Given the description of an element on the screen output the (x, y) to click on. 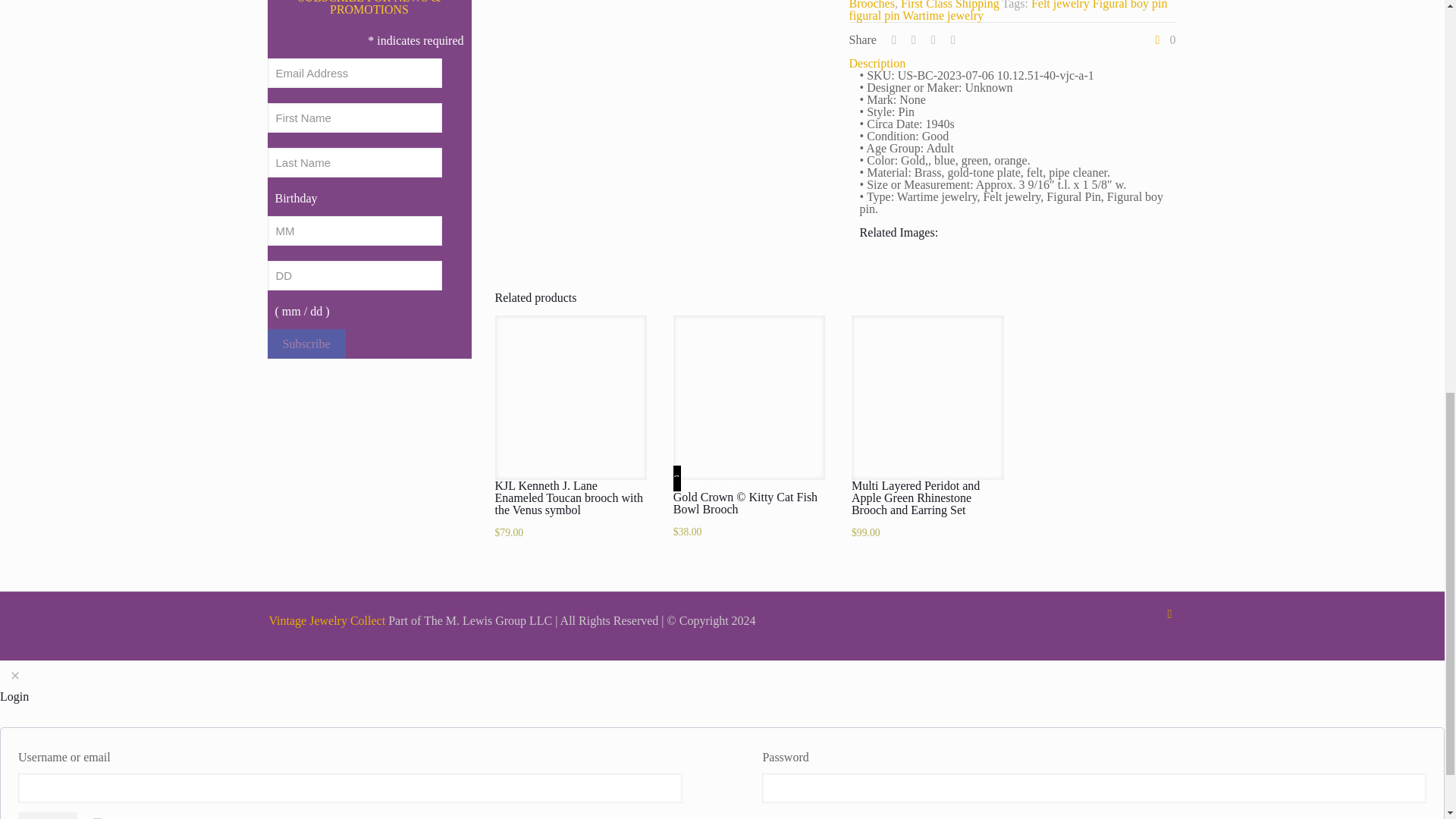
Subscribe (305, 343)
